Given the description of an element on the screen output the (x, y) to click on. 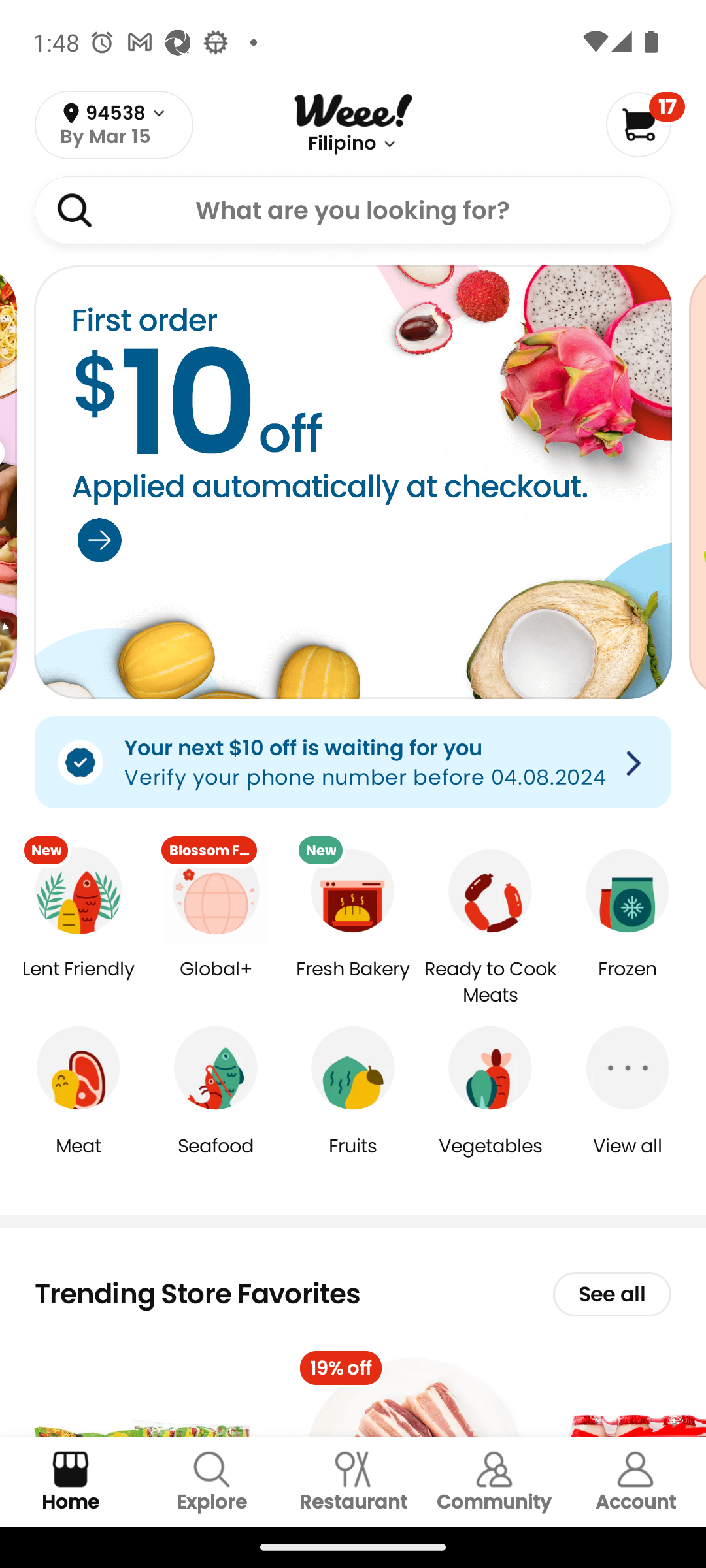
94538 By Mar 15 (113, 124)
17 (644, 124)
Filipino (341, 143)
What are you looking for? (352, 209)
Lent Friendly (77, 982)
Global+ (215, 982)
Fresh Bakery (352, 982)
Ready to Cook Meats (490, 982)
Frozen (627, 982)
Meat (77, 1159)
Seafood (215, 1159)
Fruits (352, 1159)
Vegetables (490, 1159)
View all (627, 1159)
Home (70, 1482)
Explore (211, 1482)
Restaurant (352, 1482)
Community (493, 1482)
Account (635, 1482)
